Given the description of an element on the screen output the (x, y) to click on. 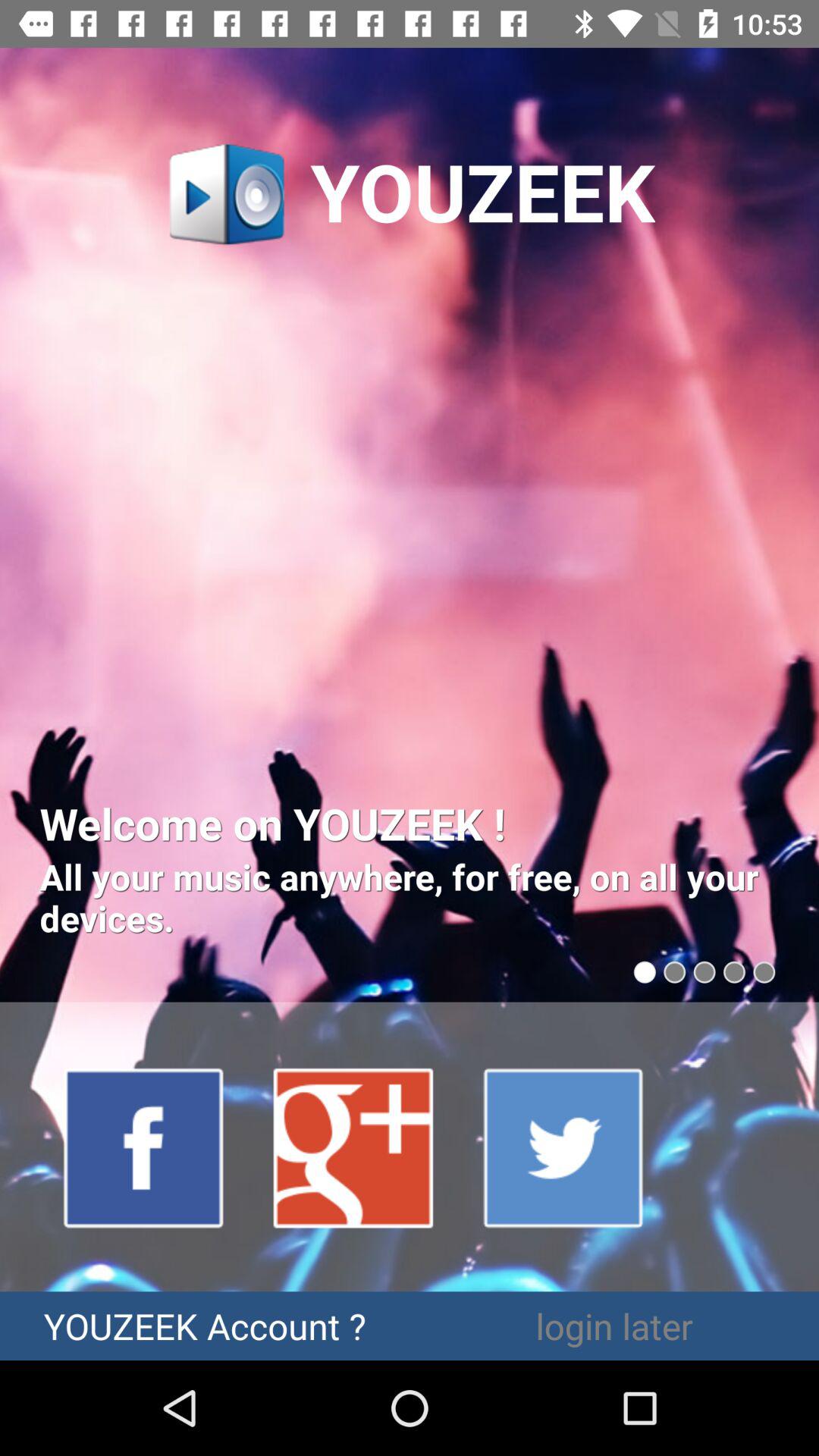
choose the icon next to the youzeek account ? (614, 1325)
